Given the description of an element on the screen output the (x, y) to click on. 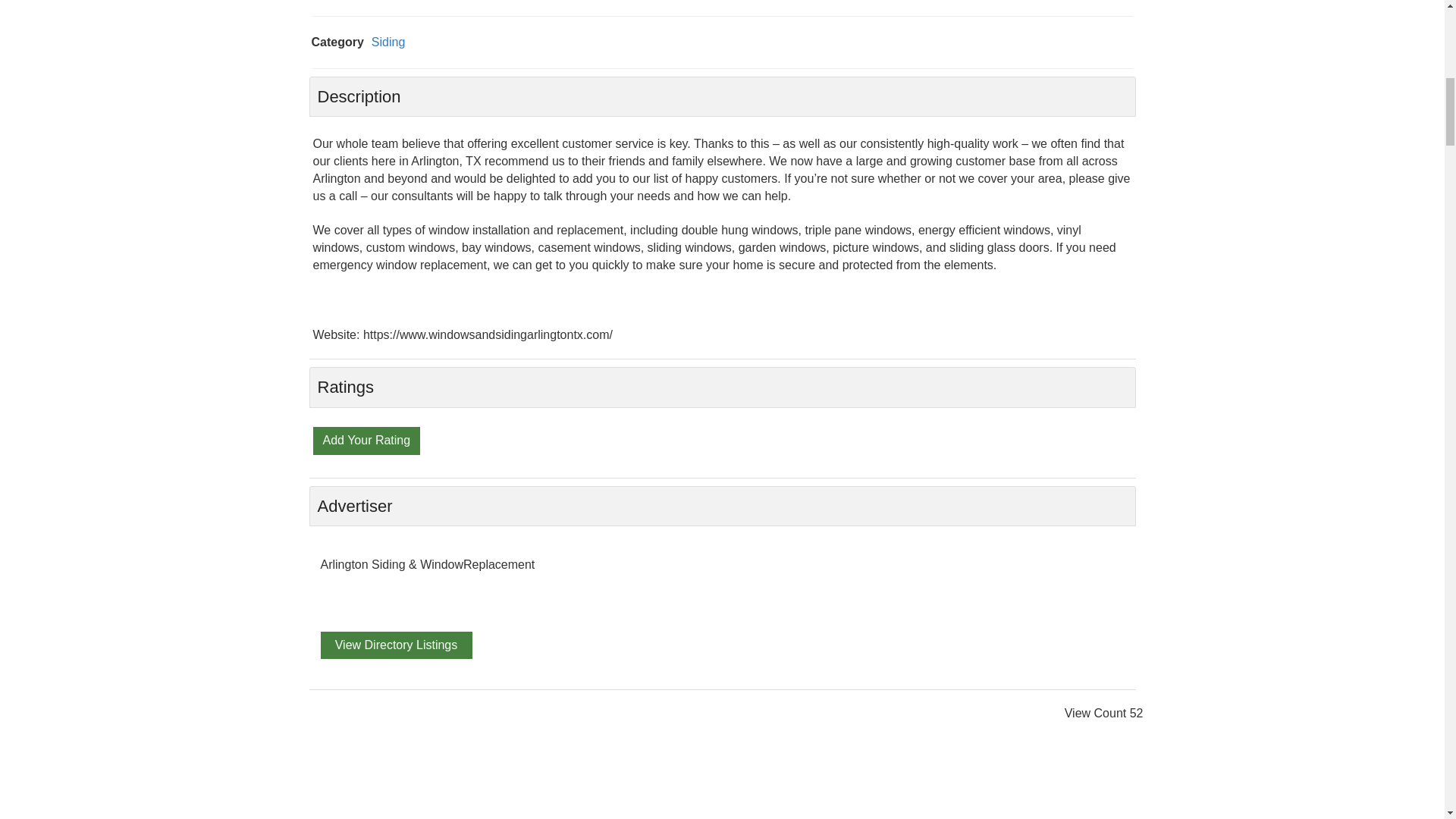
Click to Rate (366, 439)
View Directory Listings (395, 645)
